Given the description of an element on the screen output the (x, y) to click on. 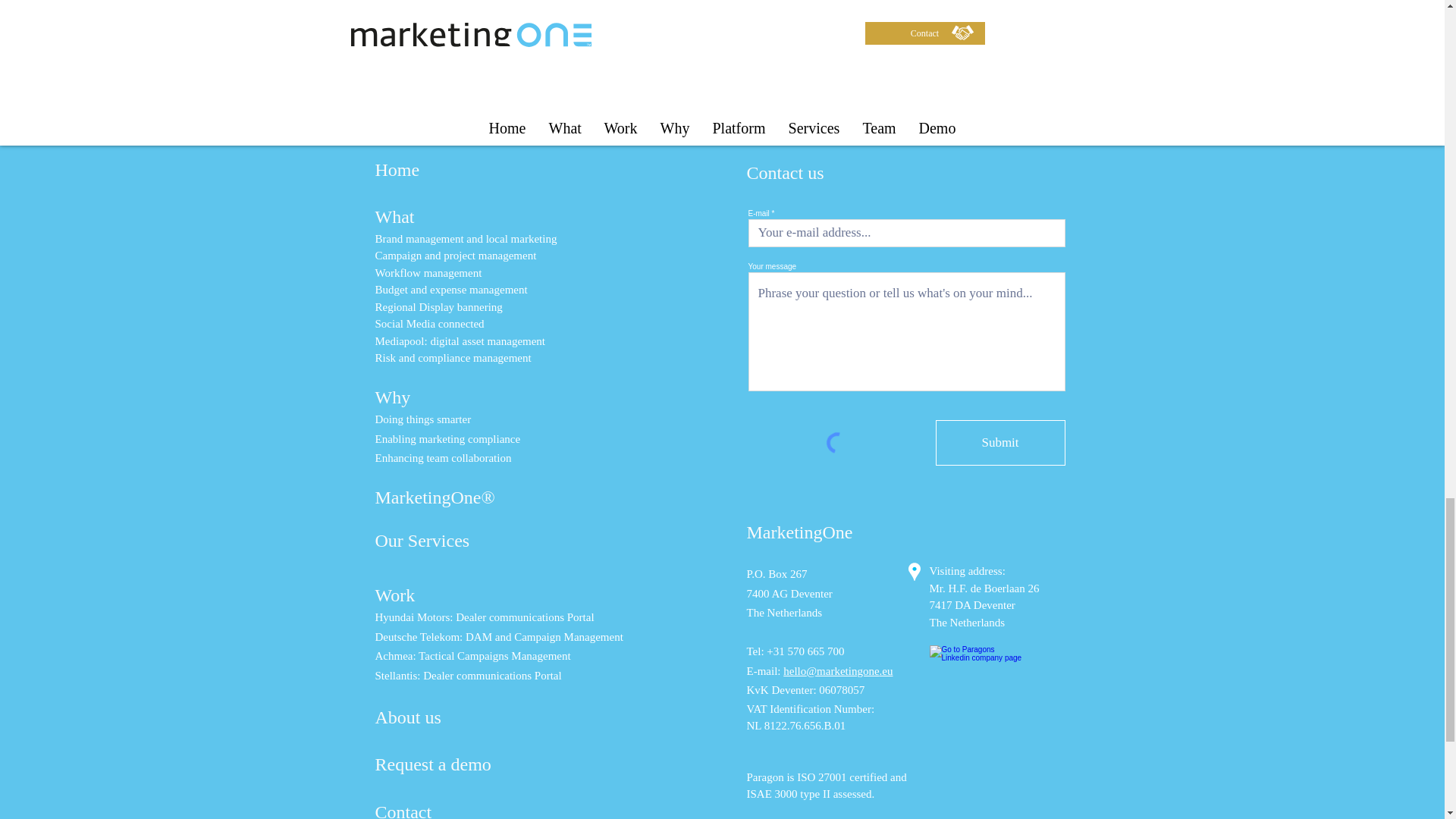
About us (407, 717)
Work (394, 595)
Mediapool: digital asset management (459, 340)
Social Media connected (428, 323)
Enabling marketing compliance (446, 439)
Why (392, 396)
Campaign and project management (454, 255)
Hyundai Motors: Dealer communications Portal (484, 616)
Deutsche Telekom: DAM and Campaign Management (498, 636)
What (393, 216)
Achmea: Tactical Campaigns Management (472, 655)
Budget and expense management (450, 289)
LinkedIn logo click to visit our LinkedIn company page (976, 671)
Doing things smarter (422, 419)
Brand management and local marketing (465, 238)
